Given the description of an element on the screen output the (x, y) to click on. 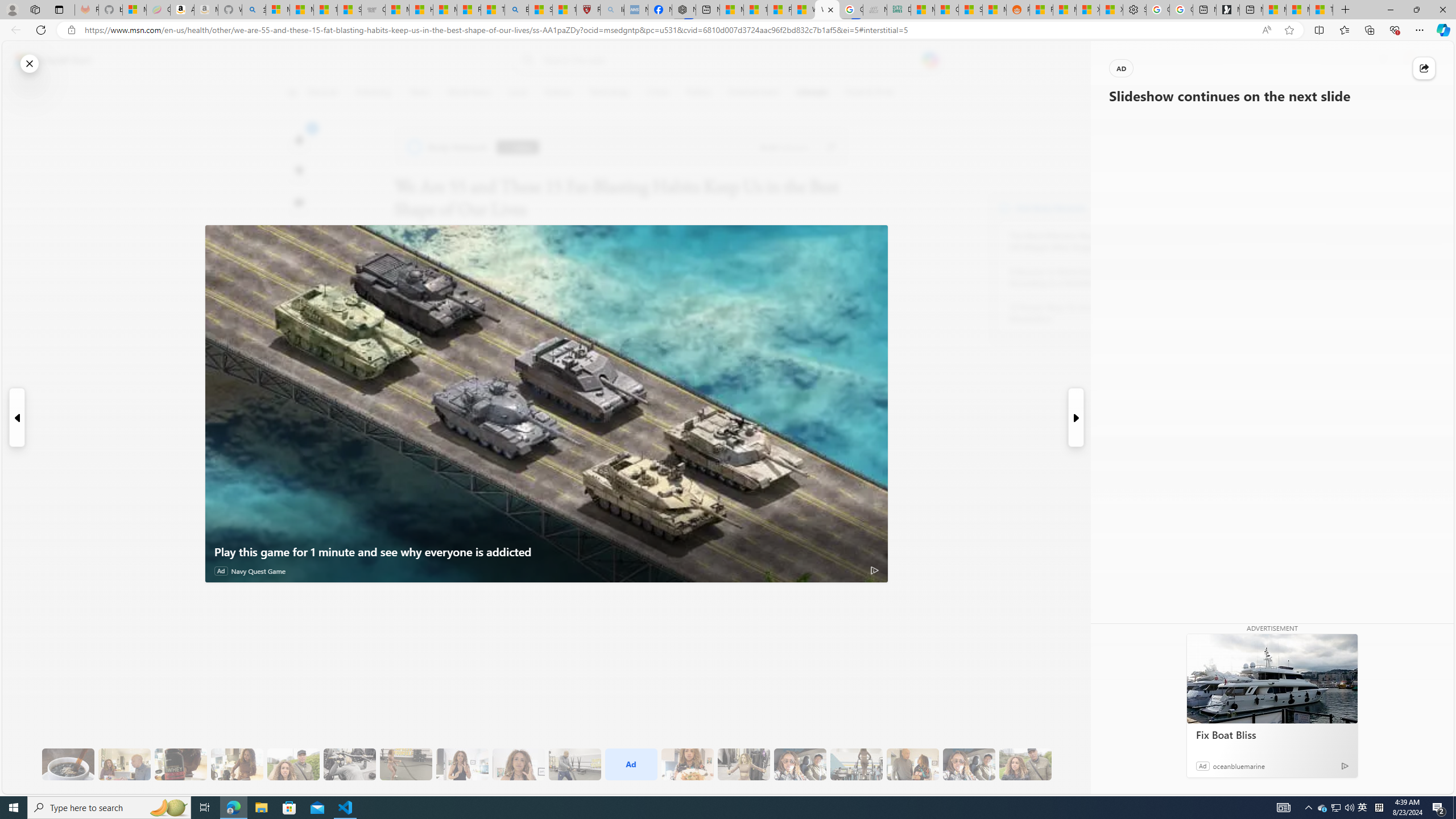
15 They Also Indulge in a Low-Calorie Sweet Treat (743, 764)
7 They Don't Skip Meals (237, 764)
10 Then, They Do HIIT Cardio (406, 764)
5 She Eats Less Than Her Husband (124, 764)
